Given the description of an element on the screen output the (x, y) to click on. 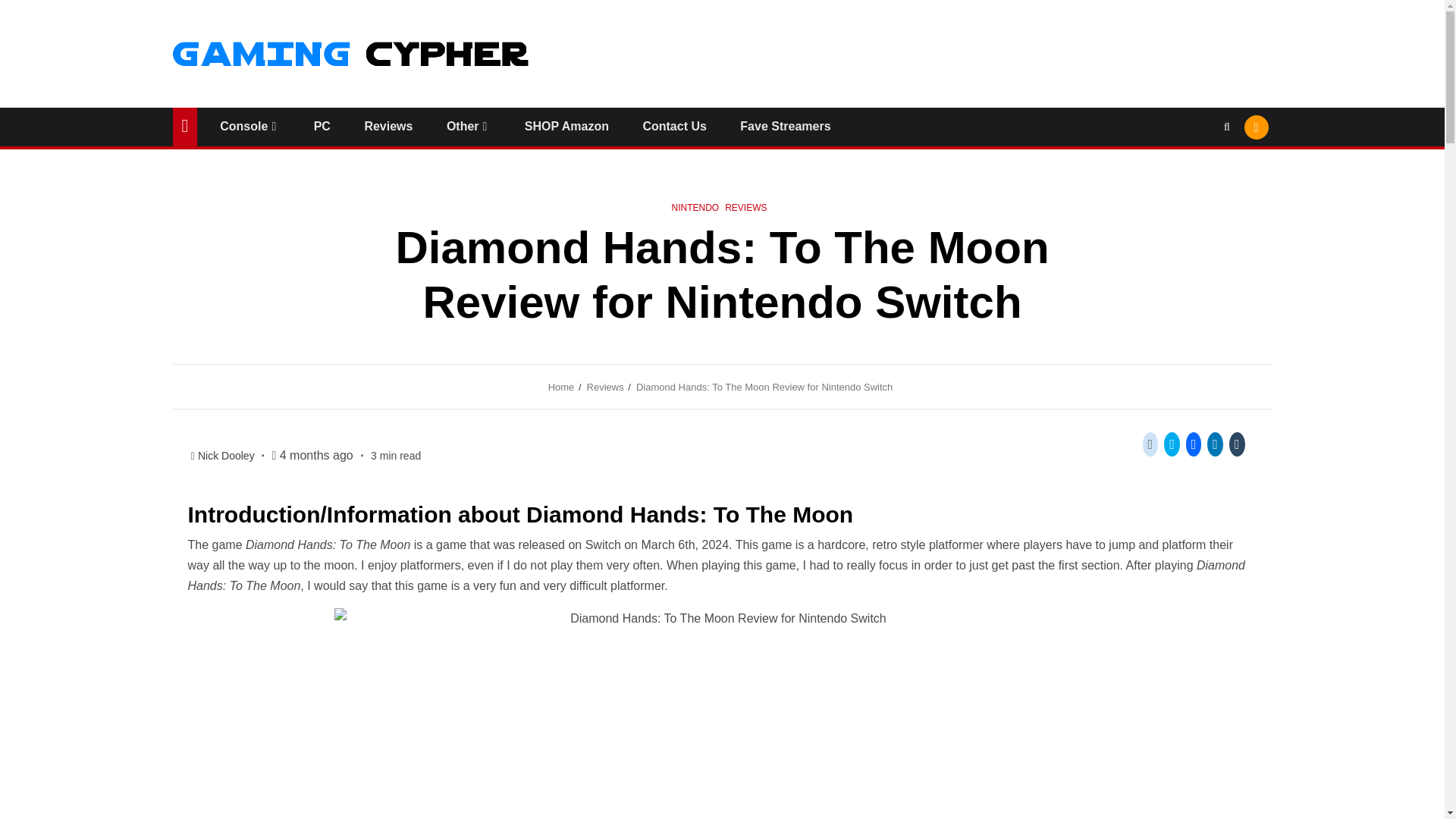
PC (322, 125)
Console (249, 125)
Reviews (388, 125)
NINTENDO (695, 207)
Click to share on LinkedIn (1215, 444)
Click to share on Tumblr (1236, 444)
Search (1226, 126)
Fave Streamers (784, 125)
Other (469, 125)
Click to share on Facebook (1194, 444)
Search (1197, 173)
Click to share on Reddit (1150, 444)
Click to share on Twitter (1171, 444)
SHOP Amazon (566, 125)
Contact Us (674, 125)
